Given the description of an element on the screen output the (x, y) to click on. 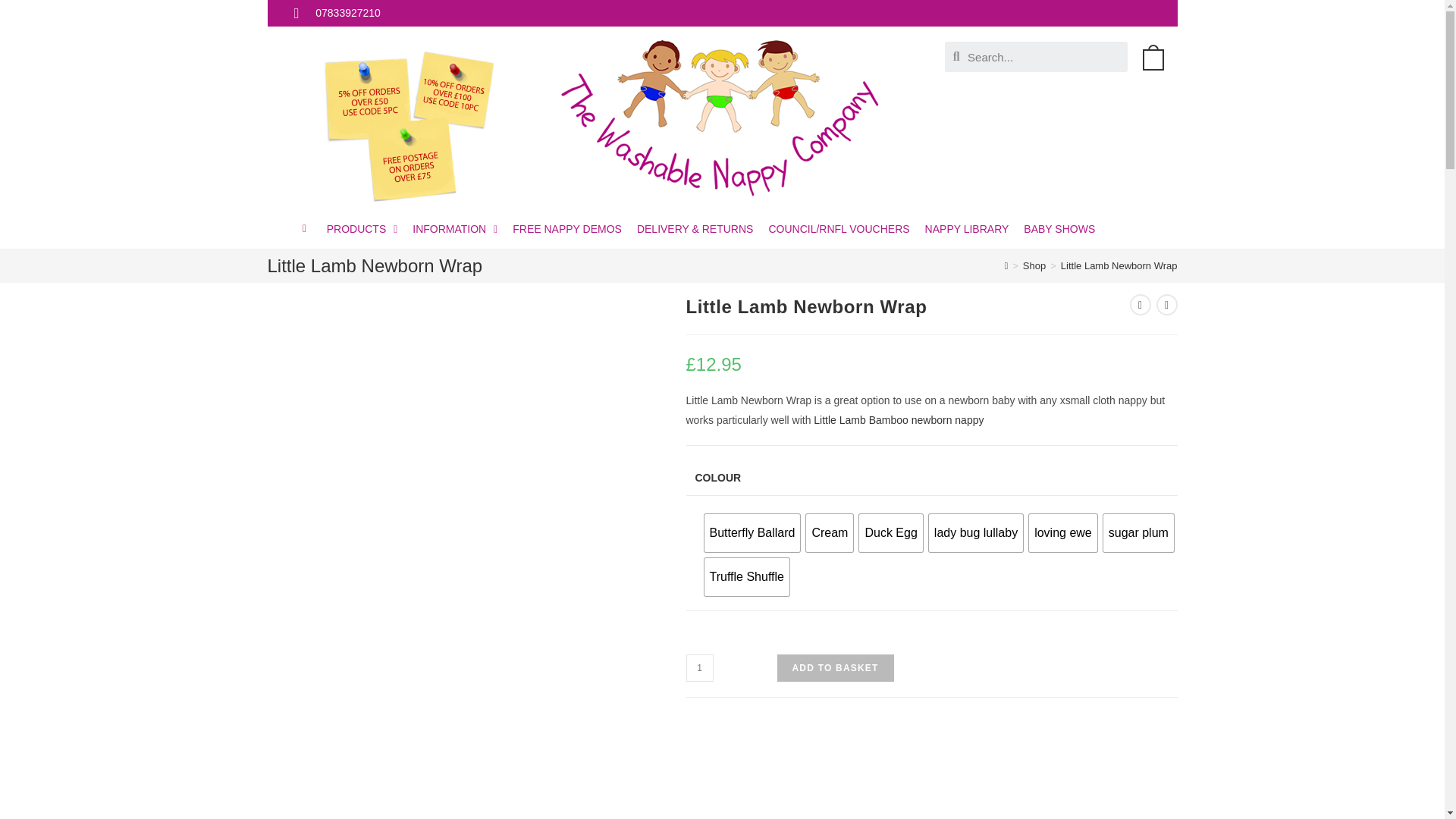
Search (1043, 56)
Truffle Shuffle (746, 576)
PRODUCTS (362, 228)
1 (699, 667)
loving ewe (1063, 533)
Cream (829, 533)
sugar plum (1138, 533)
Butterfly Ballard (751, 533)
07833927210 (337, 13)
Duck Egg (890, 533)
